Given the description of an element on the screen output the (x, y) to click on. 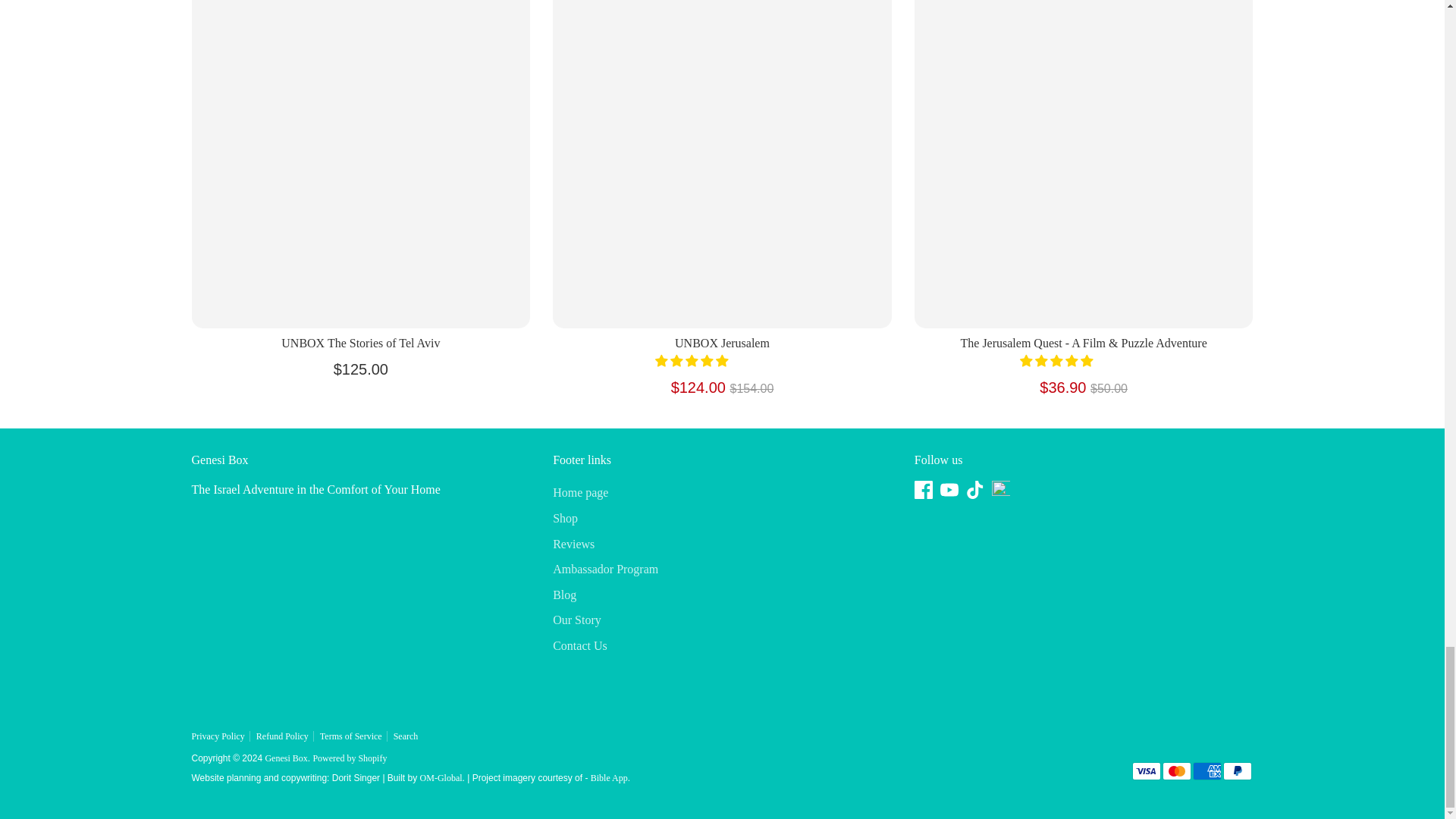
Visa (1145, 771)
Mastercard (1176, 771)
PayPal (1236, 771)
American Express (1206, 771)
